Given the description of an element on the screen output the (x, y) to click on. 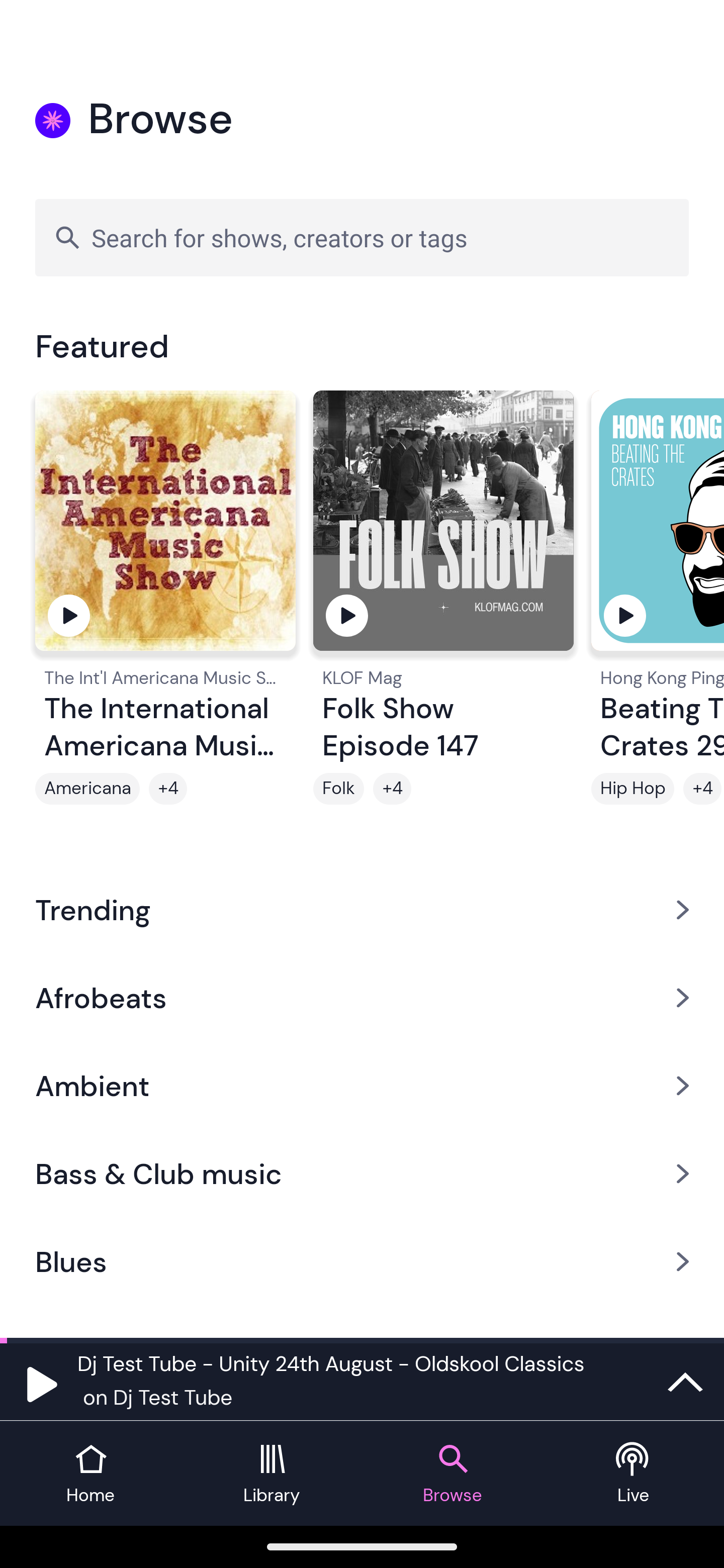
Search for shows, creators or tags (361, 237)
Americana (87, 788)
Folk (338, 788)
Hip Hop (632, 788)
Trending (361, 909)
Afrobeats (361, 997)
Ambient (361, 1085)
Bass & Club music (361, 1174)
Blues (361, 1262)
Home tab Home (90, 1473)
Library tab Library (271, 1473)
Browse tab Browse (452, 1473)
Live tab Live (633, 1473)
